Given the description of an element on the screen output the (x, y) to click on. 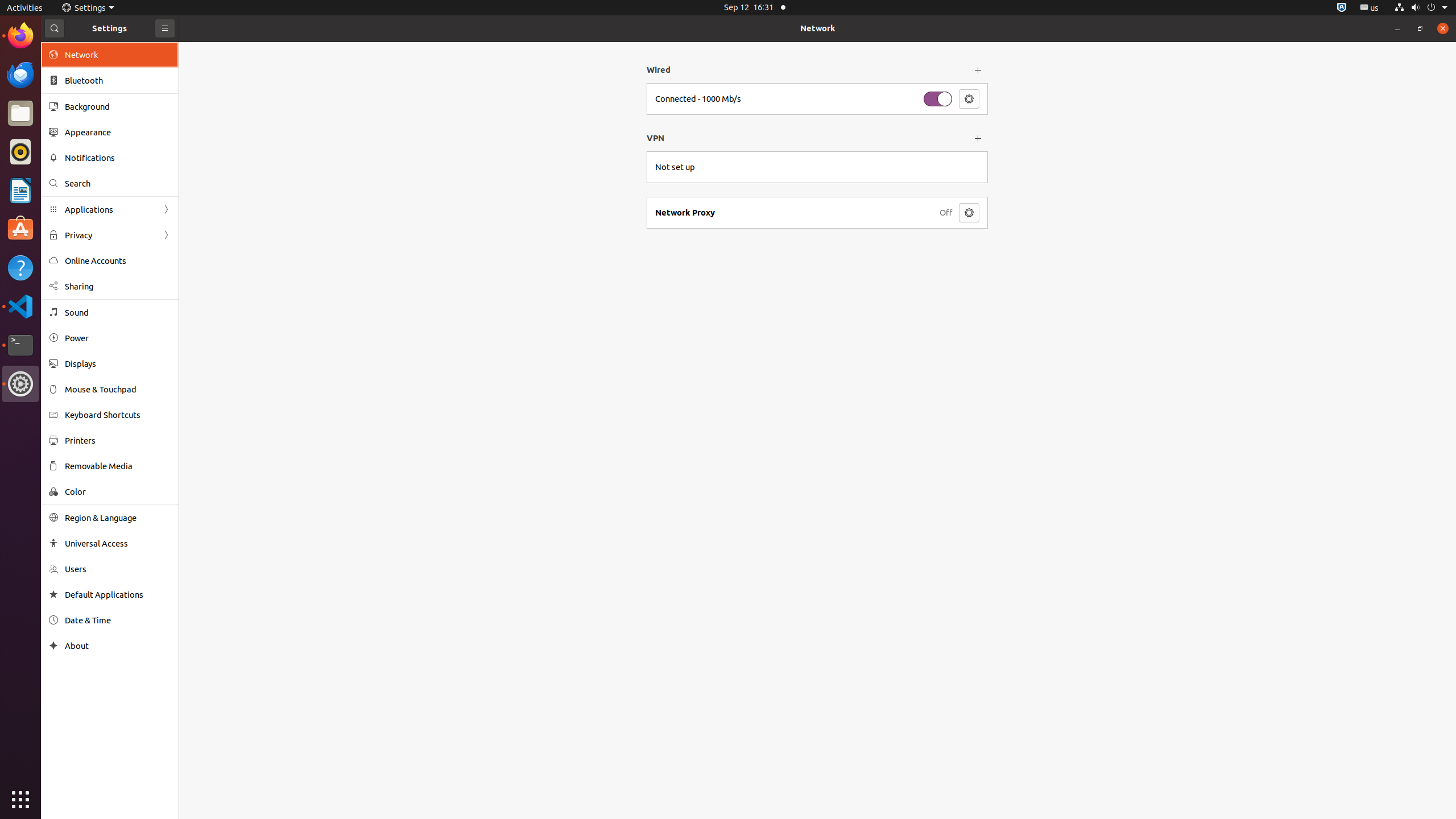
Restore Element type: push-button (1419, 27)
Close Element type: push-button (1442, 27)
Wired Element type: label (806, 69)
